Given the description of an element on the screen output the (x, y) to click on. 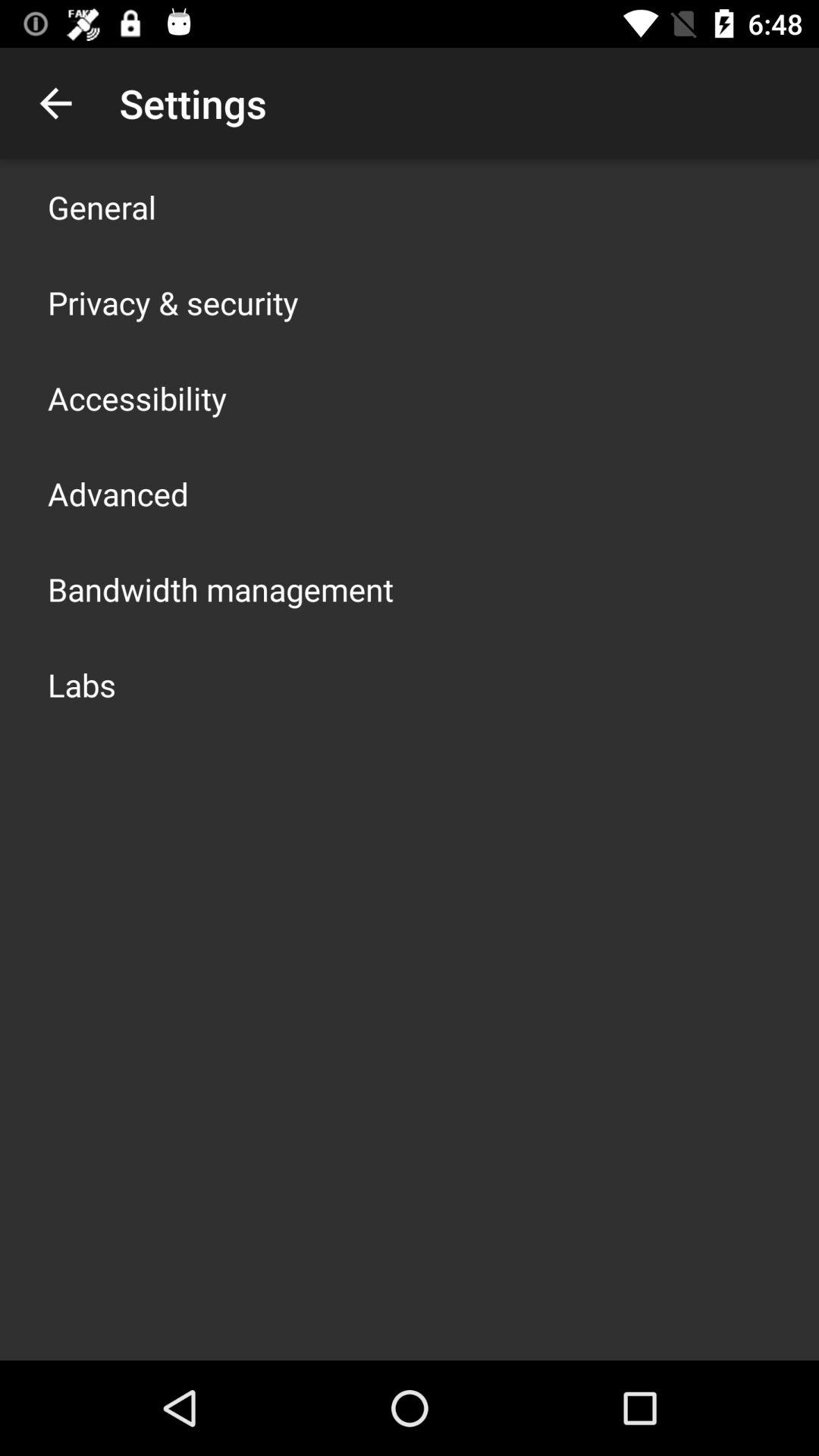
turn on the app to the left of the settings (55, 103)
